Given the description of an element on the screen output the (x, y) to click on. 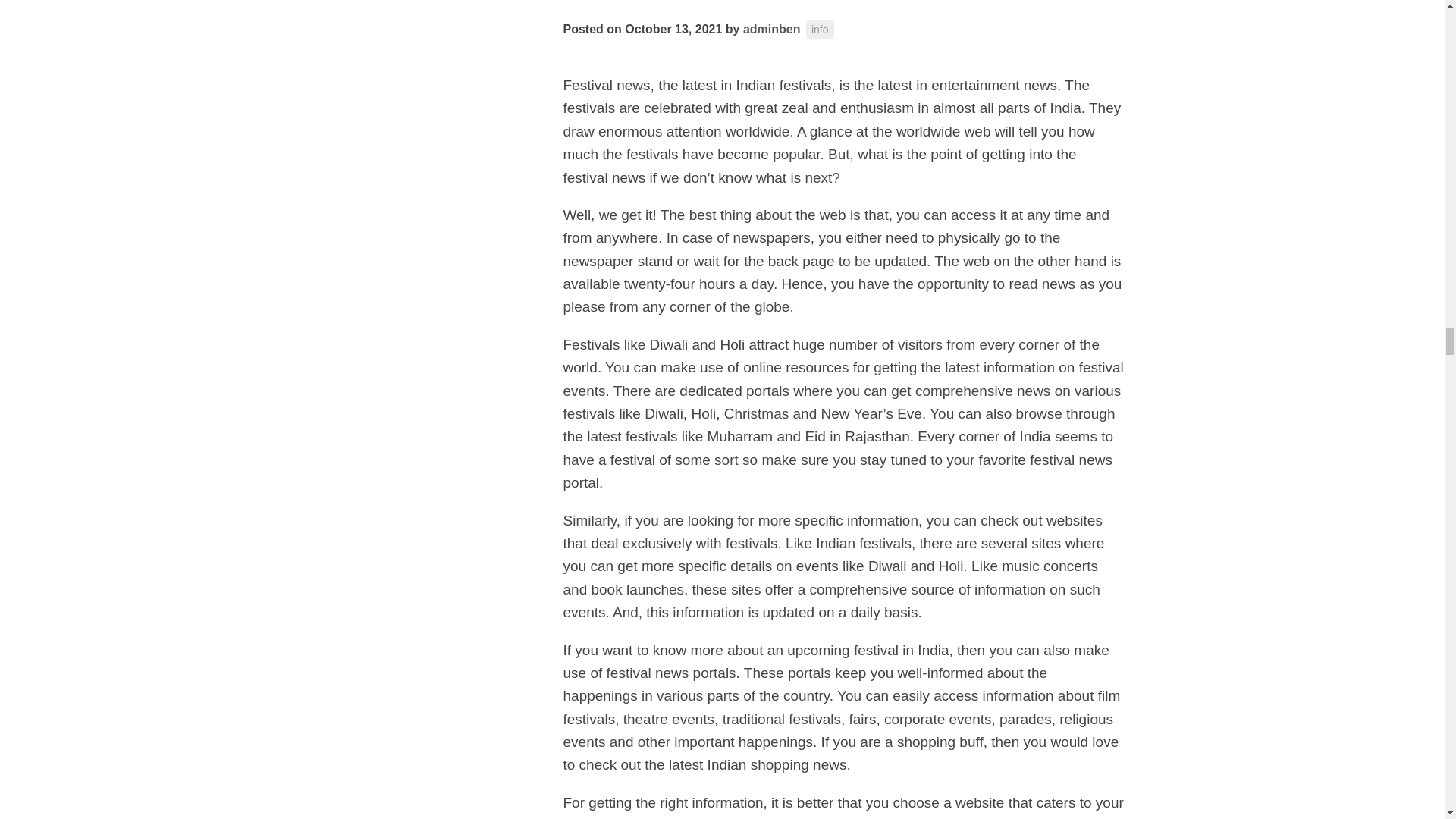
Posts by adminben (771, 29)
info (820, 29)
adminben (771, 29)
